Given the description of an element on the screen output the (x, y) to click on. 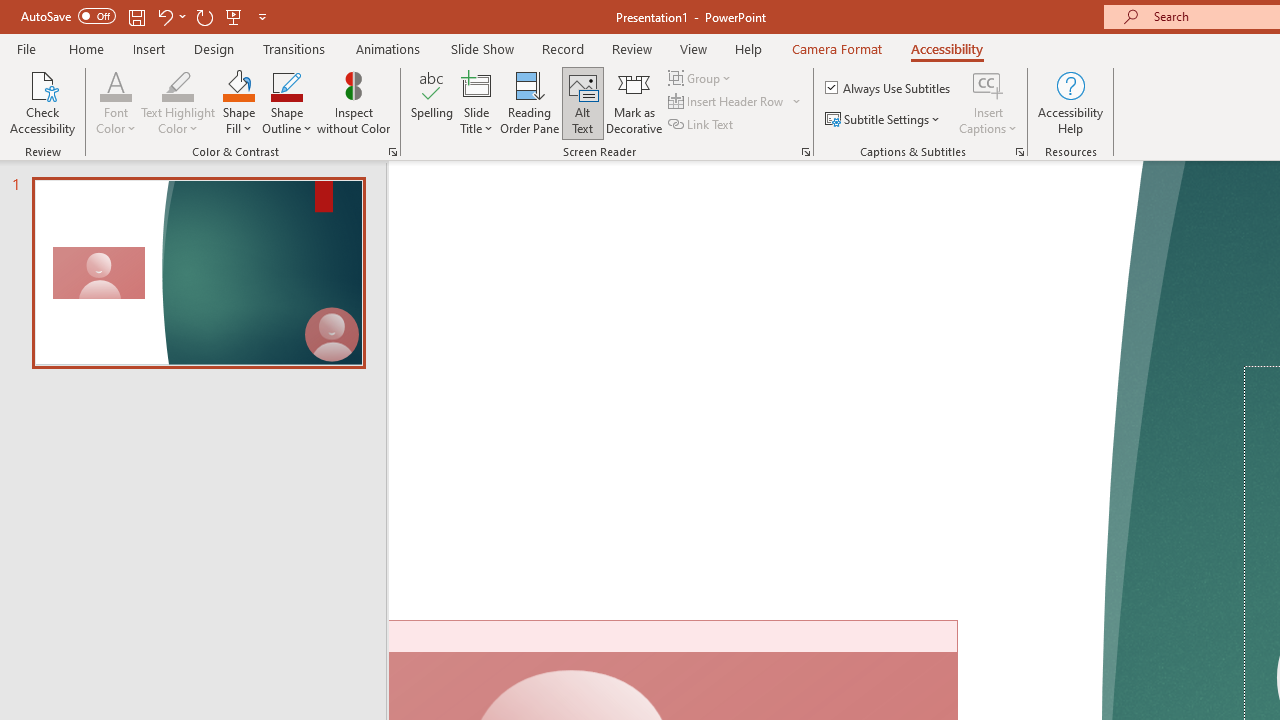
Insert Captions (988, 84)
Color & Contrast (392, 151)
Reading Order Pane (529, 102)
Mark as Decorative (634, 102)
Link Text (702, 124)
